Given the description of an element on the screen output the (x, y) to click on. 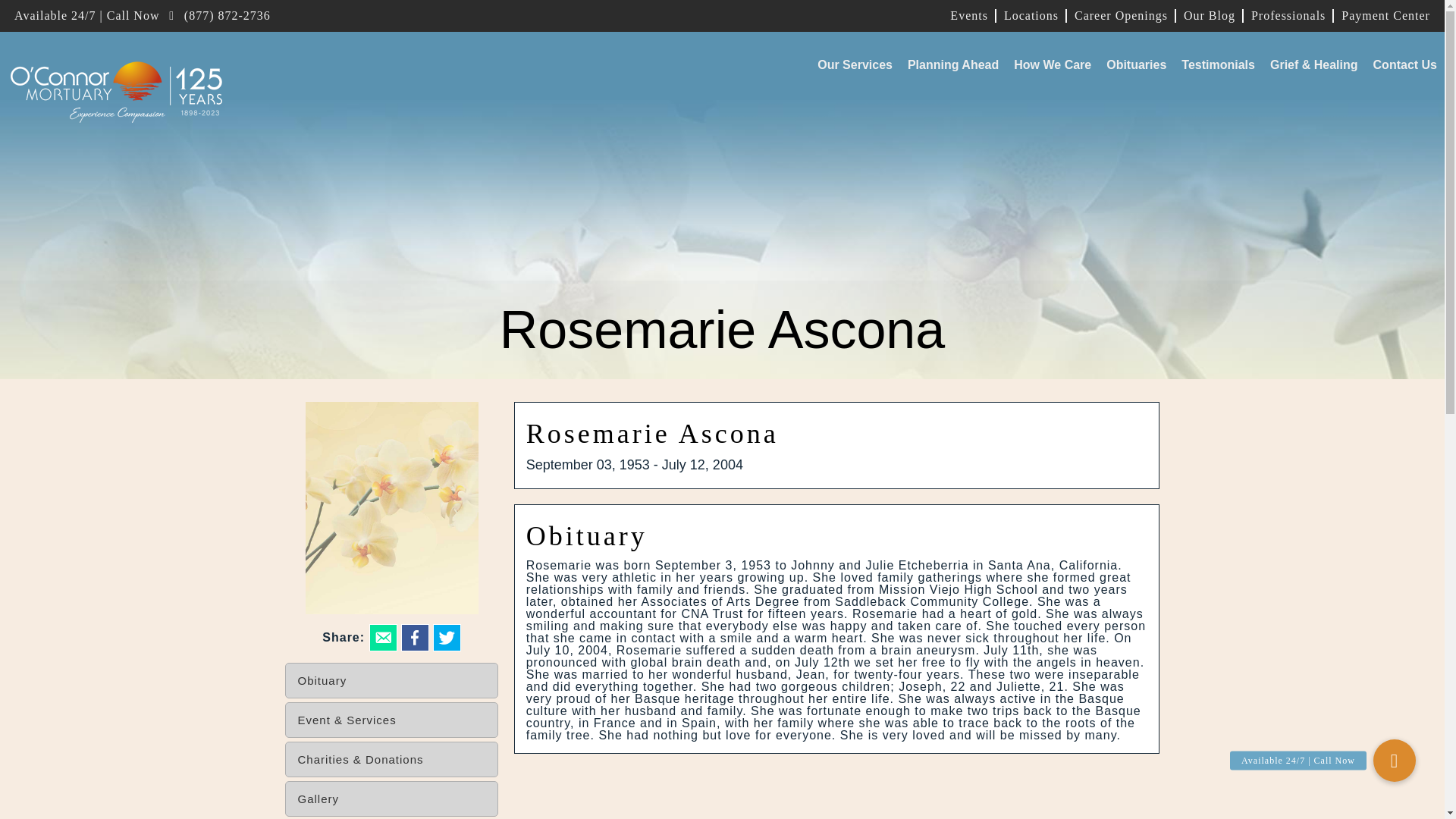
Professionals (1288, 15)
Our Blog (1208, 15)
Planning Ahead (952, 65)
Payment Center (1381, 15)
How We Care (1052, 65)
Career Openings (1119, 15)
Locations (1030, 15)
Events (968, 15)
Our Services (854, 65)
